Given the description of an element on the screen output the (x, y) to click on. 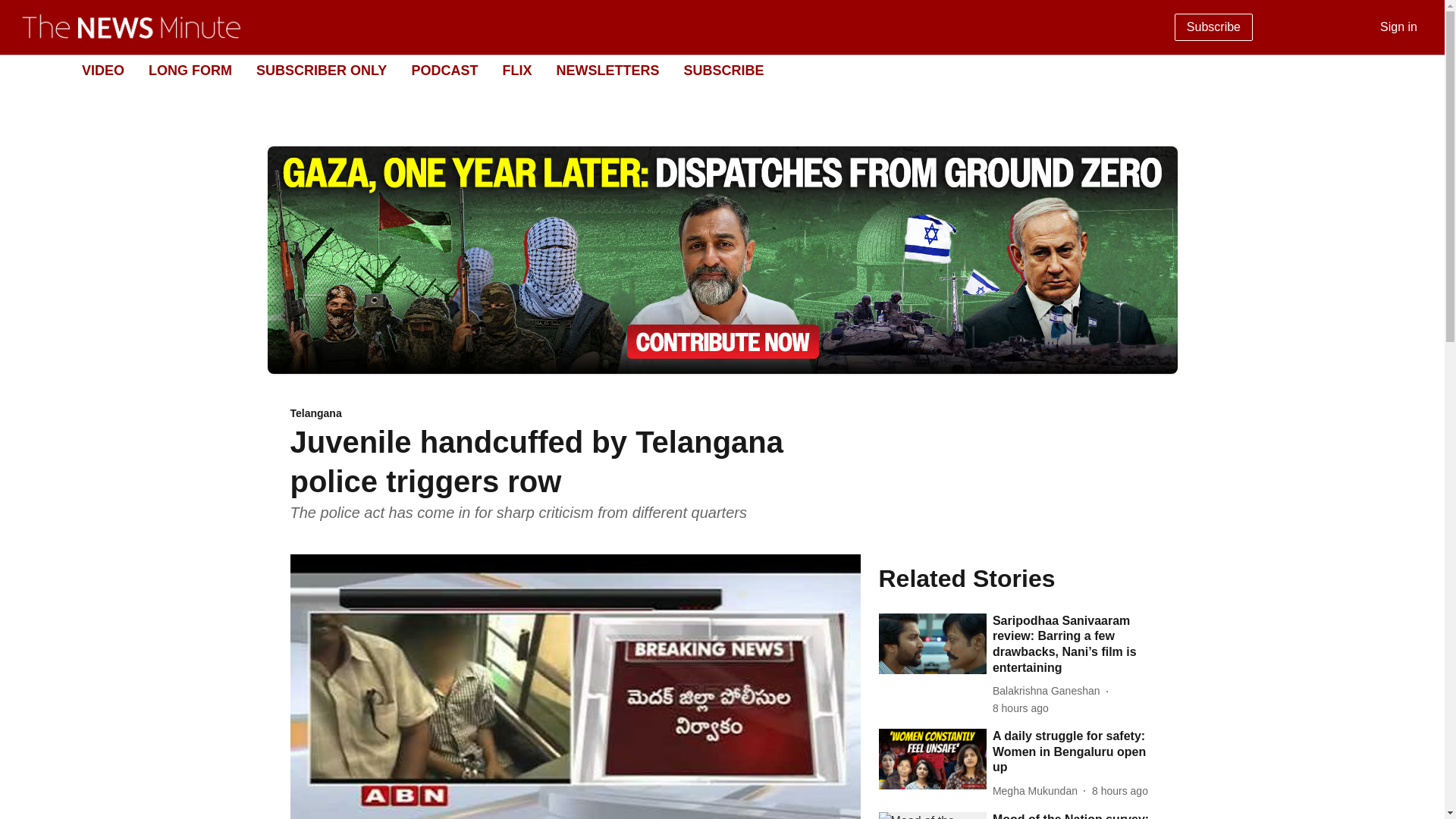
LONG FORM (189, 70)
2024-08-29 14:33 (1120, 790)
2024-08-29 14:40 (1020, 708)
Related Stories (1015, 577)
Telangana (574, 414)
A daily struggle for safety: Women in Bengaluru open up (1073, 751)
Balakrishna Ganeshan (1049, 691)
Dark Mode (1415, 70)
SUBSCRIBE (722, 70)
VIDEO (102, 70)
